Given the description of an element on the screen output the (x, y) to click on. 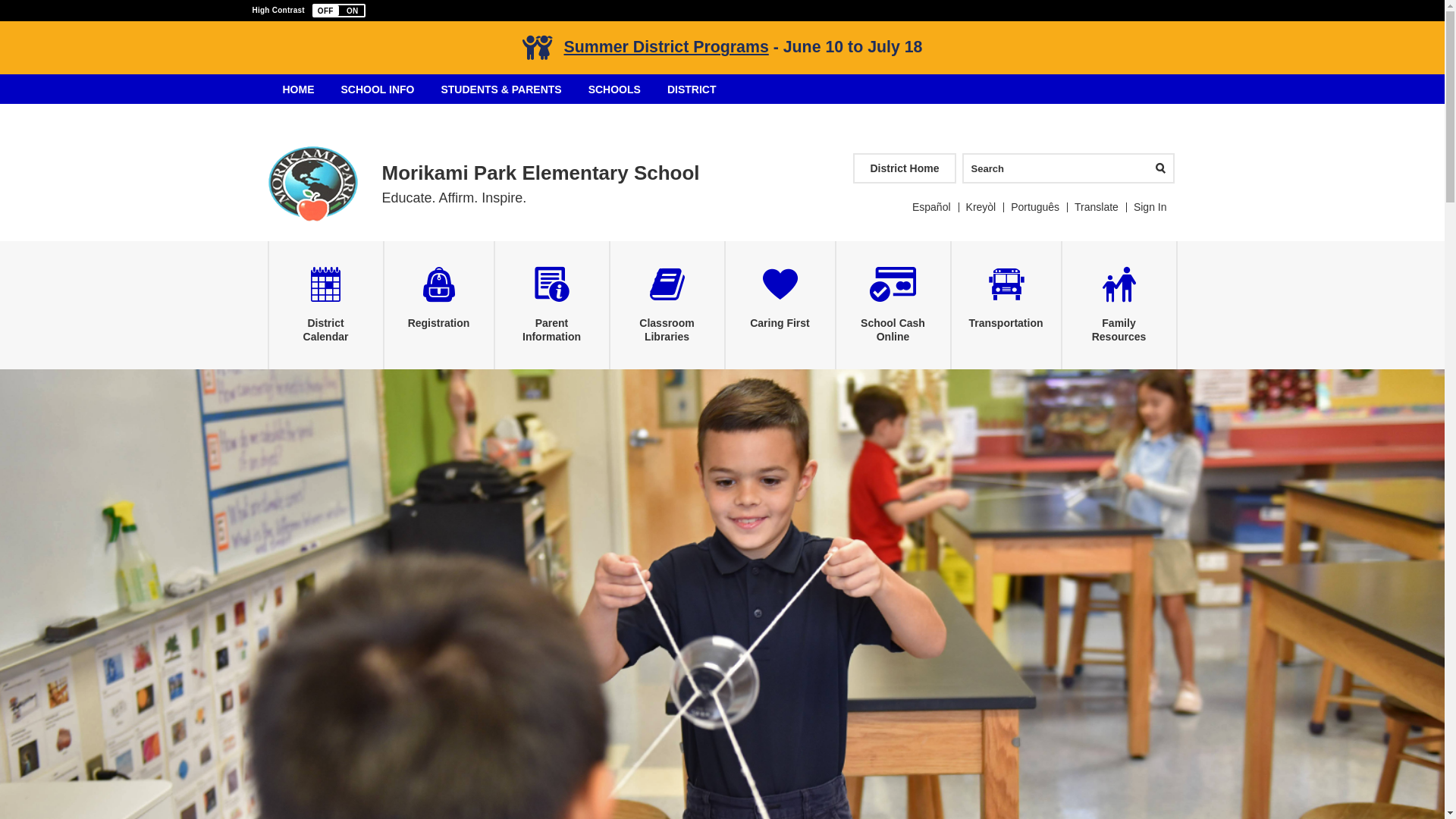
Summer District Programs (666, 46)
SCHOOL INFO (377, 89)
SCHOOLS (614, 89)
HOME (298, 89)
DISTRICT (692, 89)
Search (1046, 167)
District Home (904, 168)
Search (1046, 167)
